Given the description of an element on the screen output the (x, y) to click on. 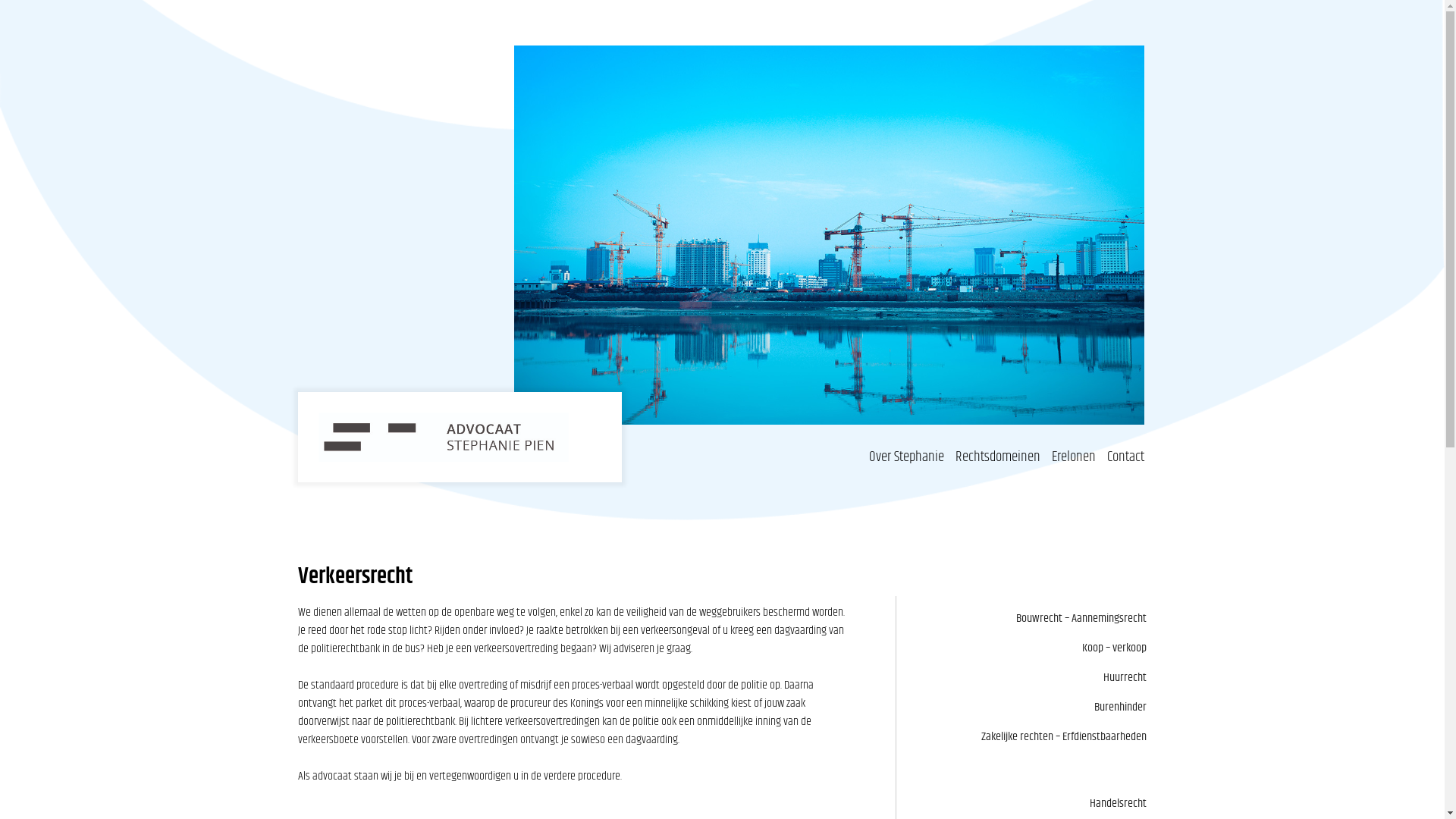
Handelsrecht Element type: text (1117, 802)
Rechtsdomeinen Element type: text (997, 456)
Huurrecht Element type: text (1124, 677)
Burenhinder Element type: text (1120, 706)
Contact Element type: text (1125, 456)
Over Stephanie Element type: text (906, 456)
Erelonen Element type: text (1073, 456)
